Given the description of an element on the screen output the (x, y) to click on. 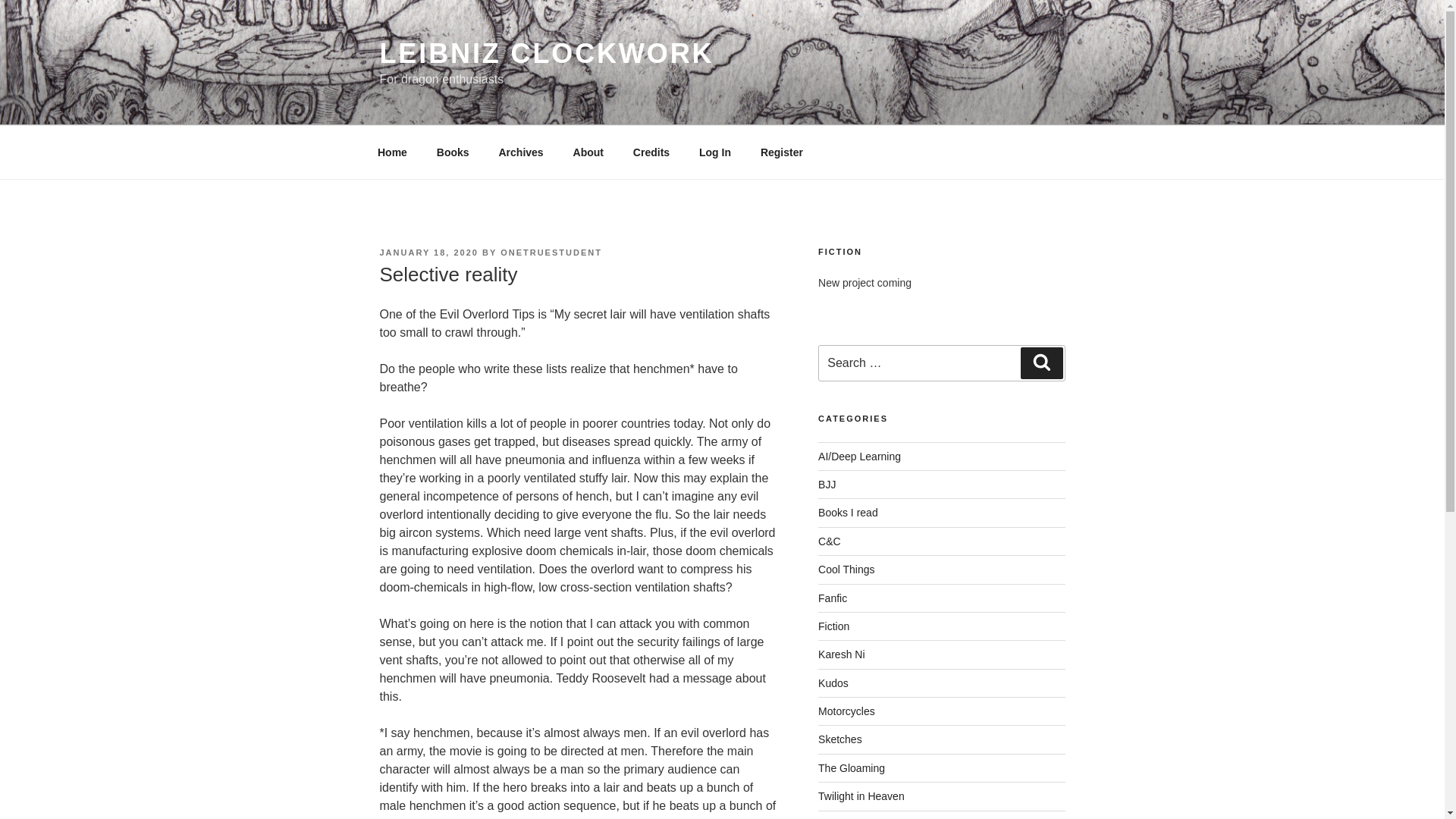
Log In (714, 151)
Archives (520, 151)
Home (392, 151)
About (587, 151)
Register (780, 151)
Twilight in Heaven (861, 796)
Books (452, 151)
Credits (651, 151)
Cool Things (846, 569)
Motorcycles (846, 711)
The Gloaming (851, 767)
ONETRUESTUDENT (551, 252)
Karesh Ni (841, 654)
BJJ (826, 484)
Kudos (833, 683)
